Given the description of an element on the screen output the (x, y) to click on. 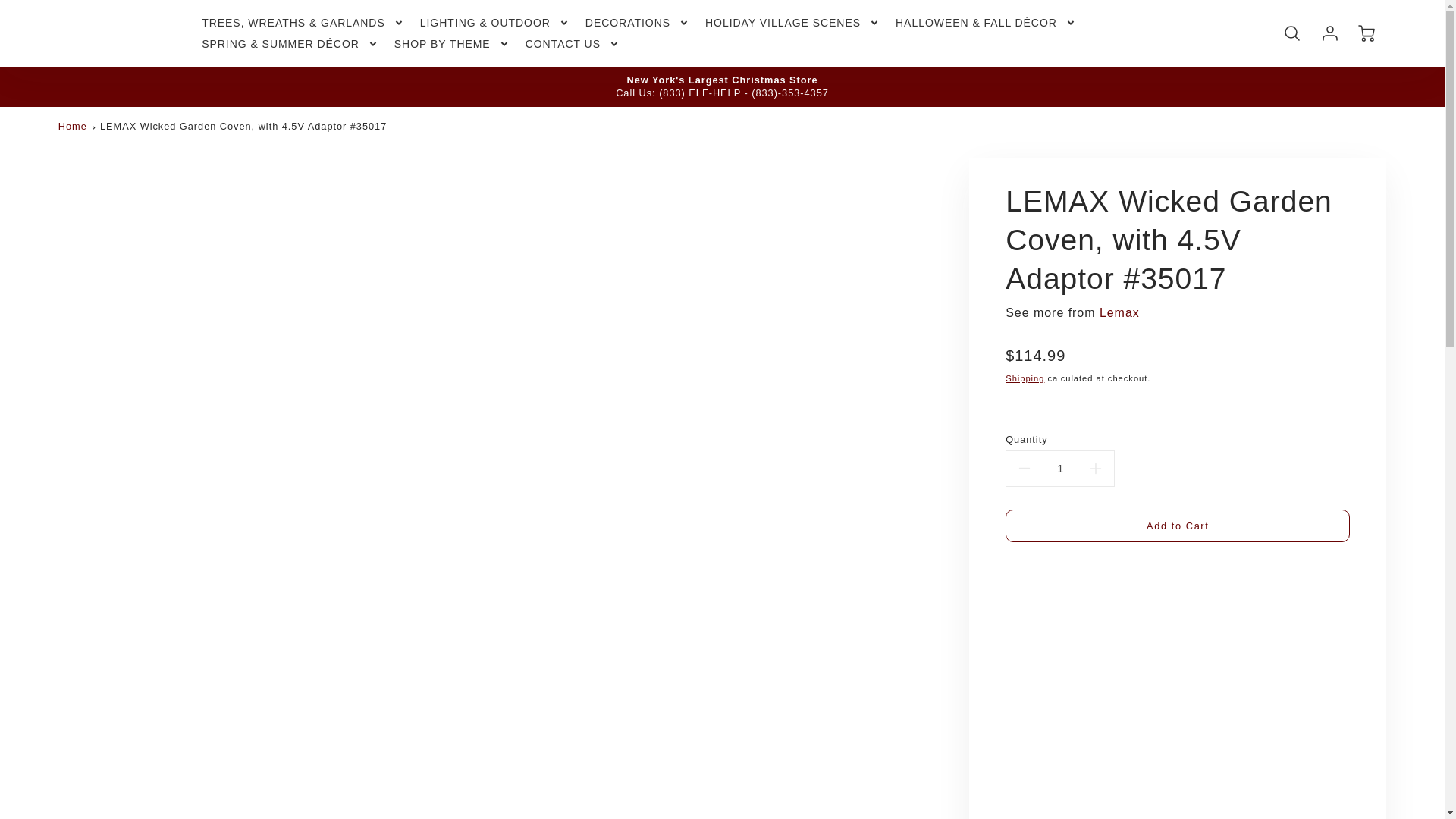
1 (1059, 468)
Lemax (1119, 312)
DECORATIONS (637, 22)
